Given the description of an element on the screen output the (x, y) to click on. 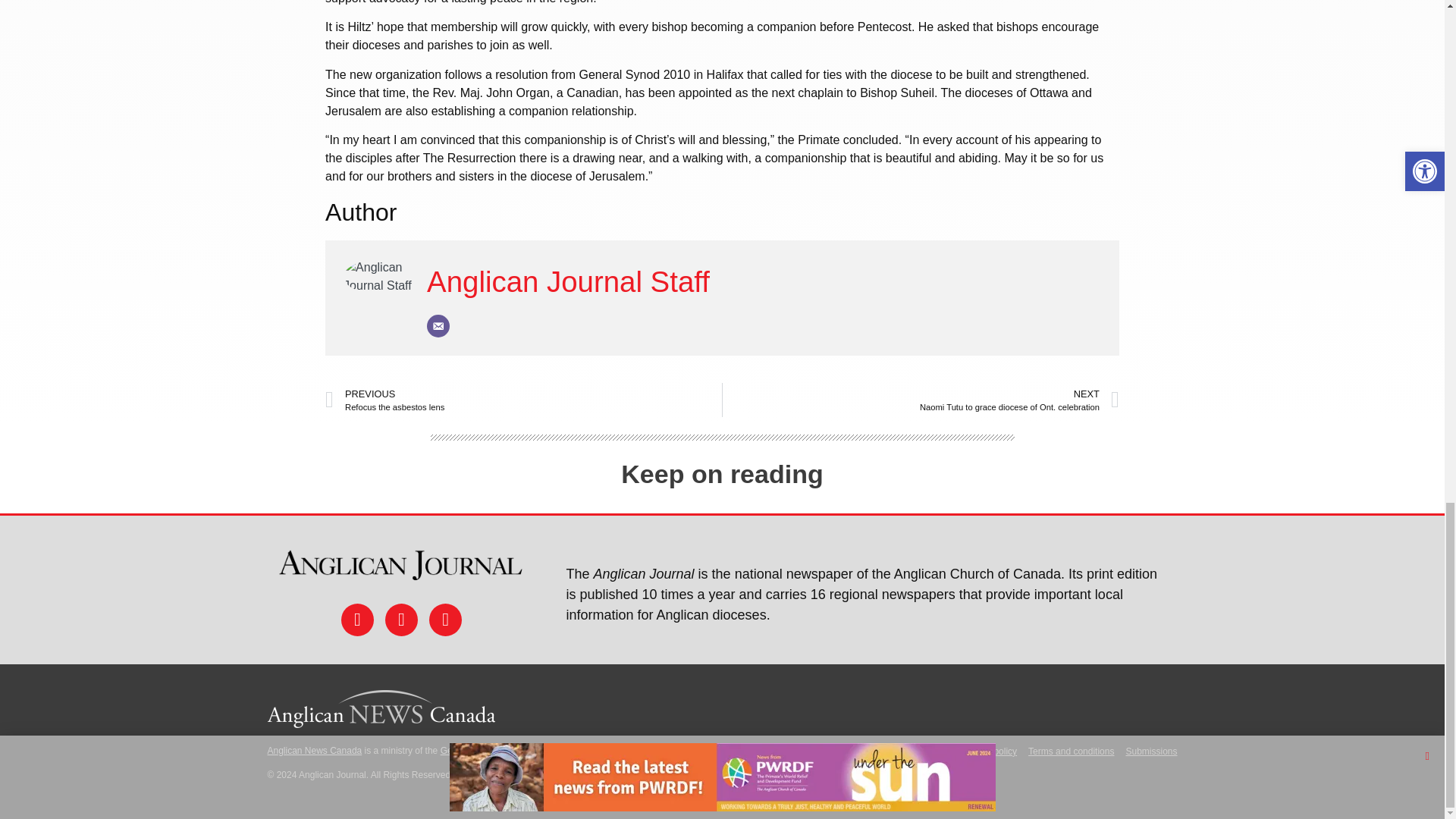
Anglican Journal Staff (568, 281)
